Given the description of an element on the screen output the (x, y) to click on. 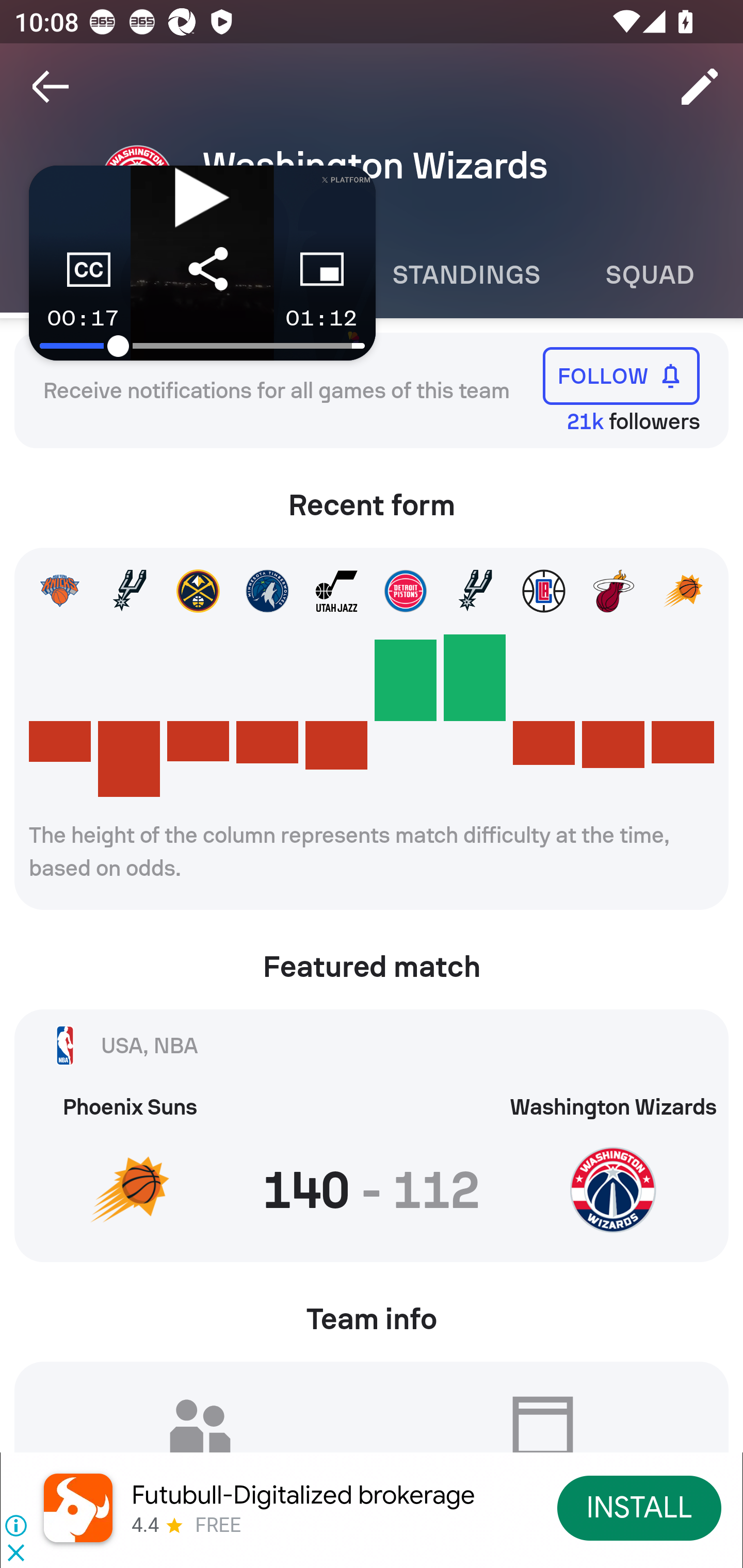
Navigate up (50, 86)
Edit (699, 86)
Standings STANDINGS (465, 275)
Squad SQUAD (650, 275)
FOLLOW (621, 375)
INSTALL (639, 1507)
Futubull-Digitalized brokerage (302, 1494)
